Given the description of an element on the screen output the (x, y) to click on. 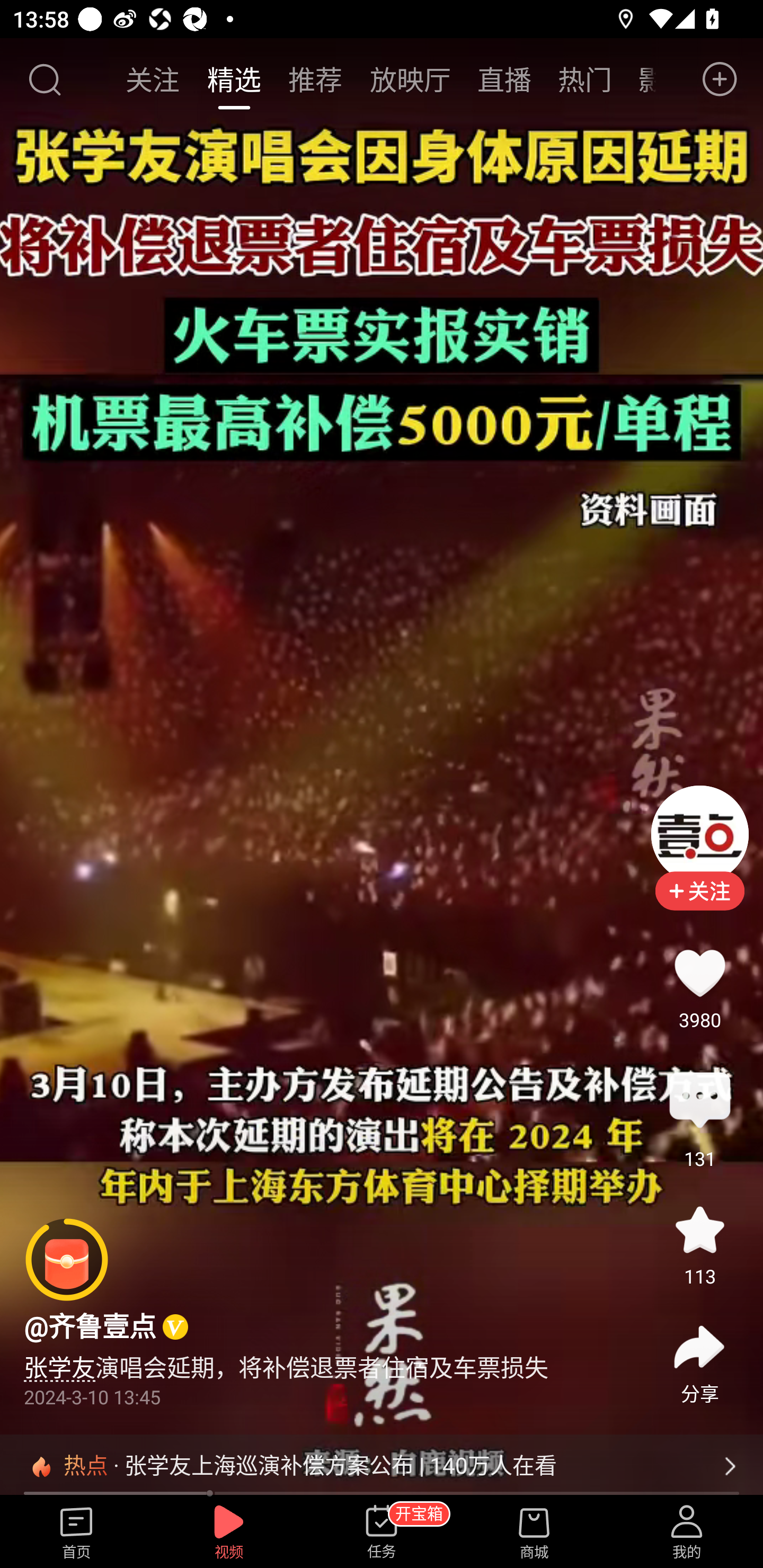
关注 (153, 79)
精选 (233, 79)
推荐 (315, 79)
放映厅 (409, 79)
直播 (504, 79)
热门 (584, 79)
搜索 (44, 79)
发布 (720, 79)
头像 (699, 833)
点赞3980 3980 (699, 972)
评论131 评论 131 (699, 1101)
收藏 113 (699, 1229)
阅读赚金币 (66, 1259)
分享 (699, 1347)
@齐鲁壹点 (89, 1326)
热点  · 张学友上海巡演补偿方案公布  | 140万人在看 (381, 1465)
首页 (76, 1532)
视频 (228, 1532)
任务 开宝箱 (381, 1532)
商城 (533, 1532)
我的 (686, 1532)
